Given the description of an element on the screen output the (x, y) to click on. 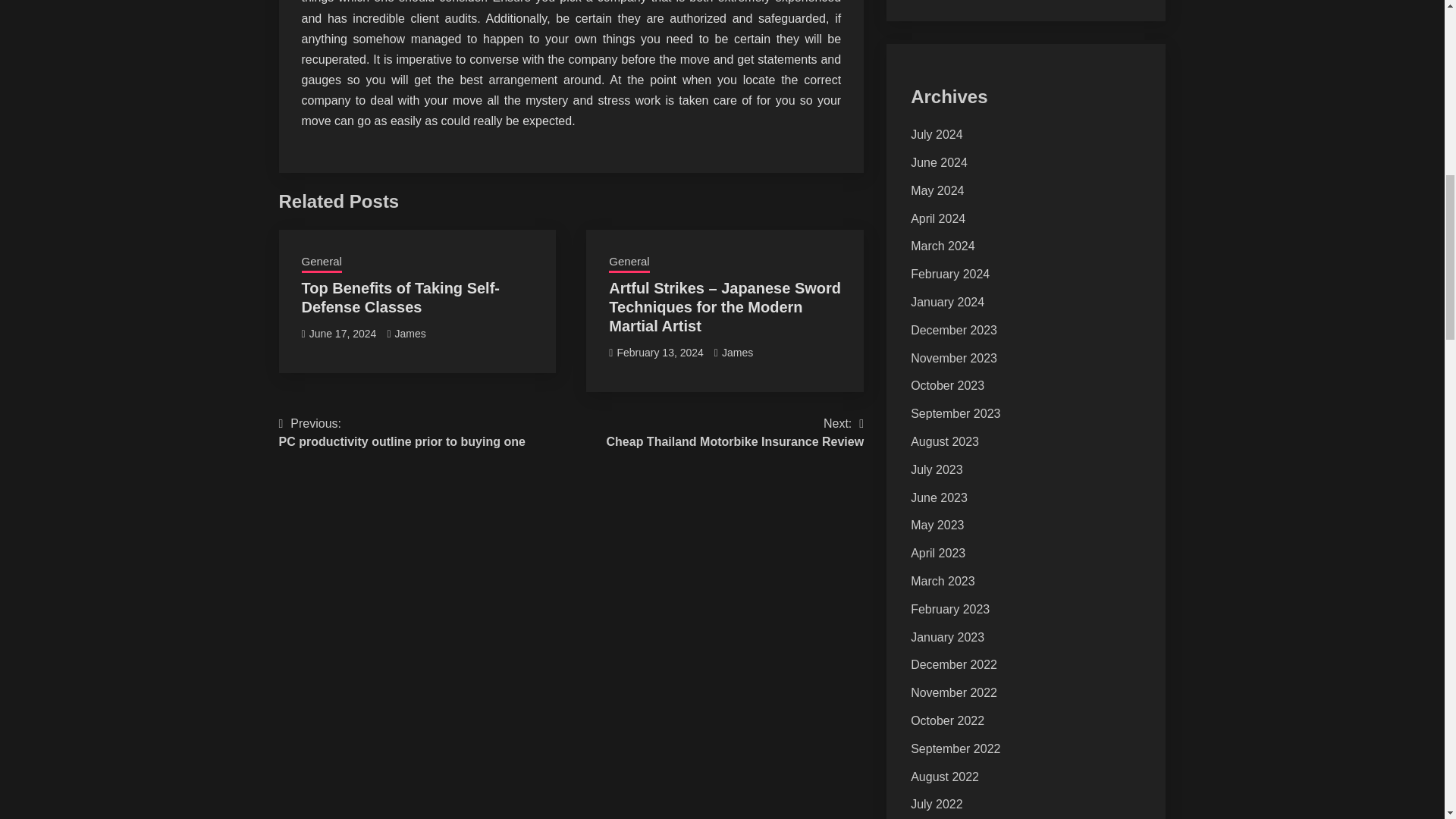
July 2024 (936, 133)
Top Benefits of Taking Self-Defense Classes (735, 432)
February 13, 2024 (400, 297)
June 2024 (659, 352)
James (402, 432)
General (939, 162)
General (409, 333)
James (321, 262)
June 17, 2024 (628, 262)
